Given the description of an element on the screen output the (x, y) to click on. 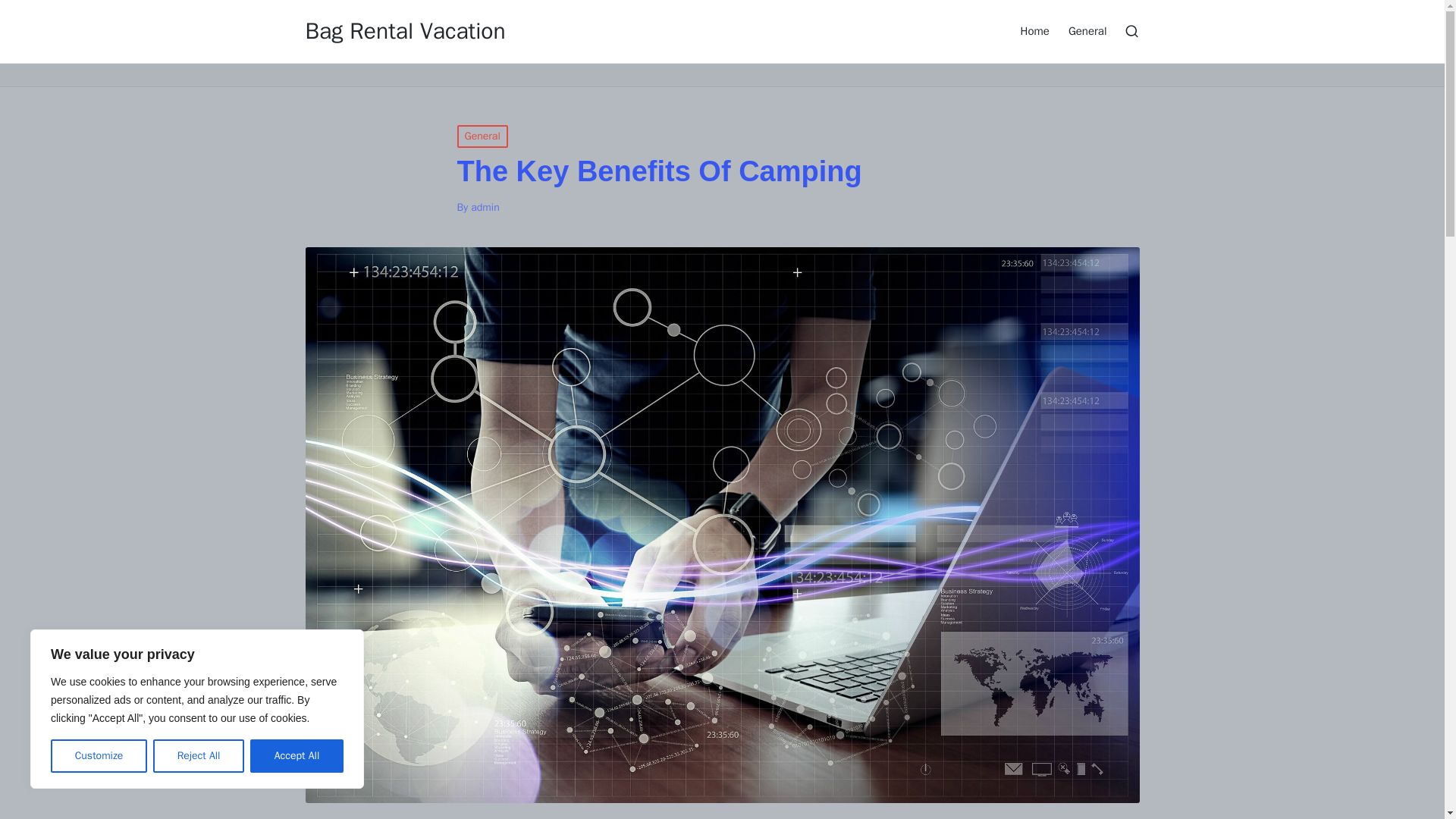
Home (1034, 30)
General (1087, 30)
Bag Rental Vacation (404, 31)
General (481, 136)
Accept All (296, 756)
Reject All (198, 756)
View all posts by  (484, 206)
admin (484, 206)
Customize (98, 756)
